Given the description of an element on the screen output the (x, y) to click on. 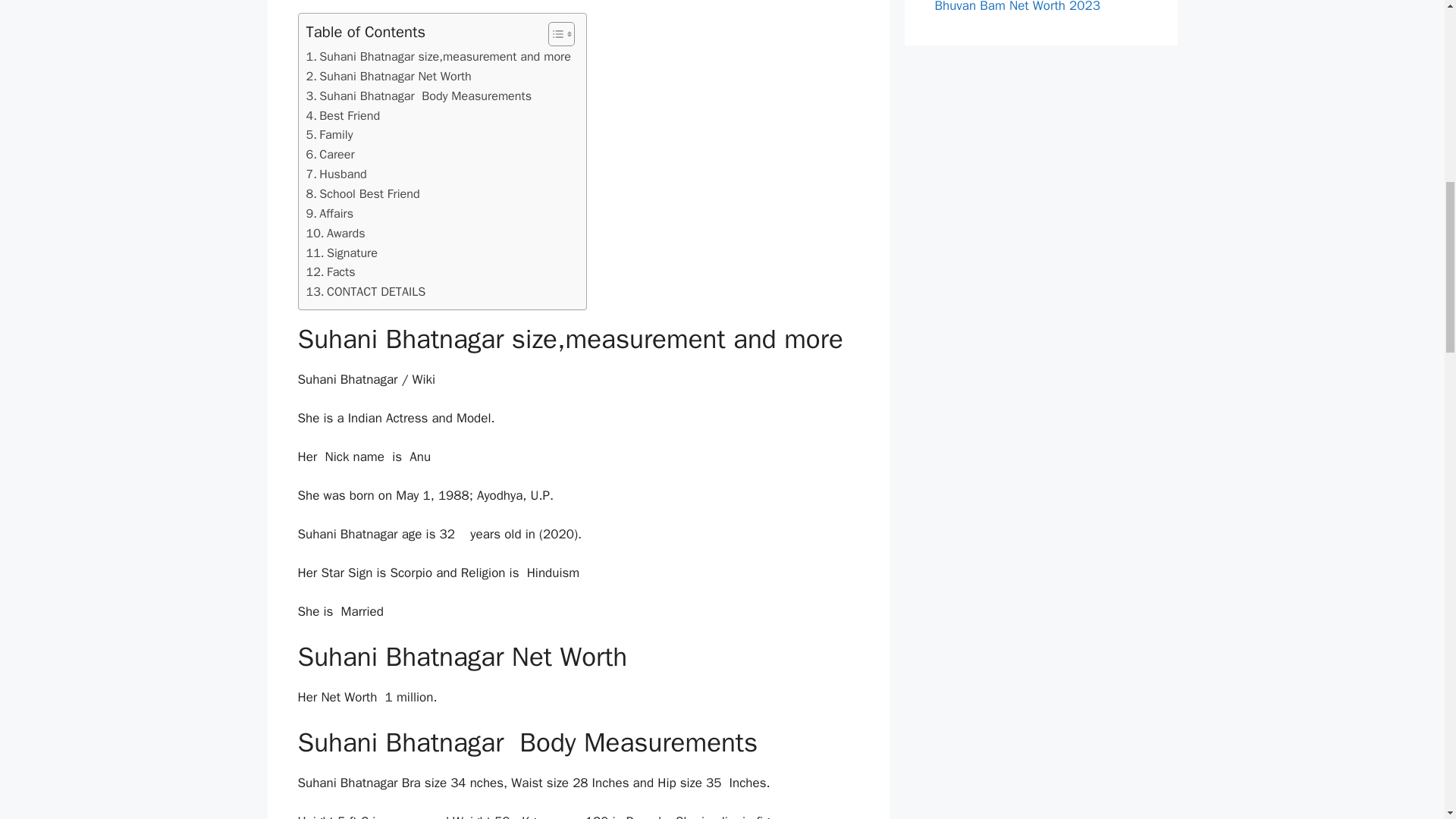
Signature (341, 252)
Suhani Bhatnagar Net Worth (388, 76)
Husband (335, 174)
Facts (330, 271)
Suhani Bhatnagar Net Worth (388, 76)
Career (330, 154)
Best Friend (342, 116)
Suhani Bhatnagar  Body Measurements (418, 96)
Facts (330, 271)
